Given the description of an element on the screen output the (x, y) to click on. 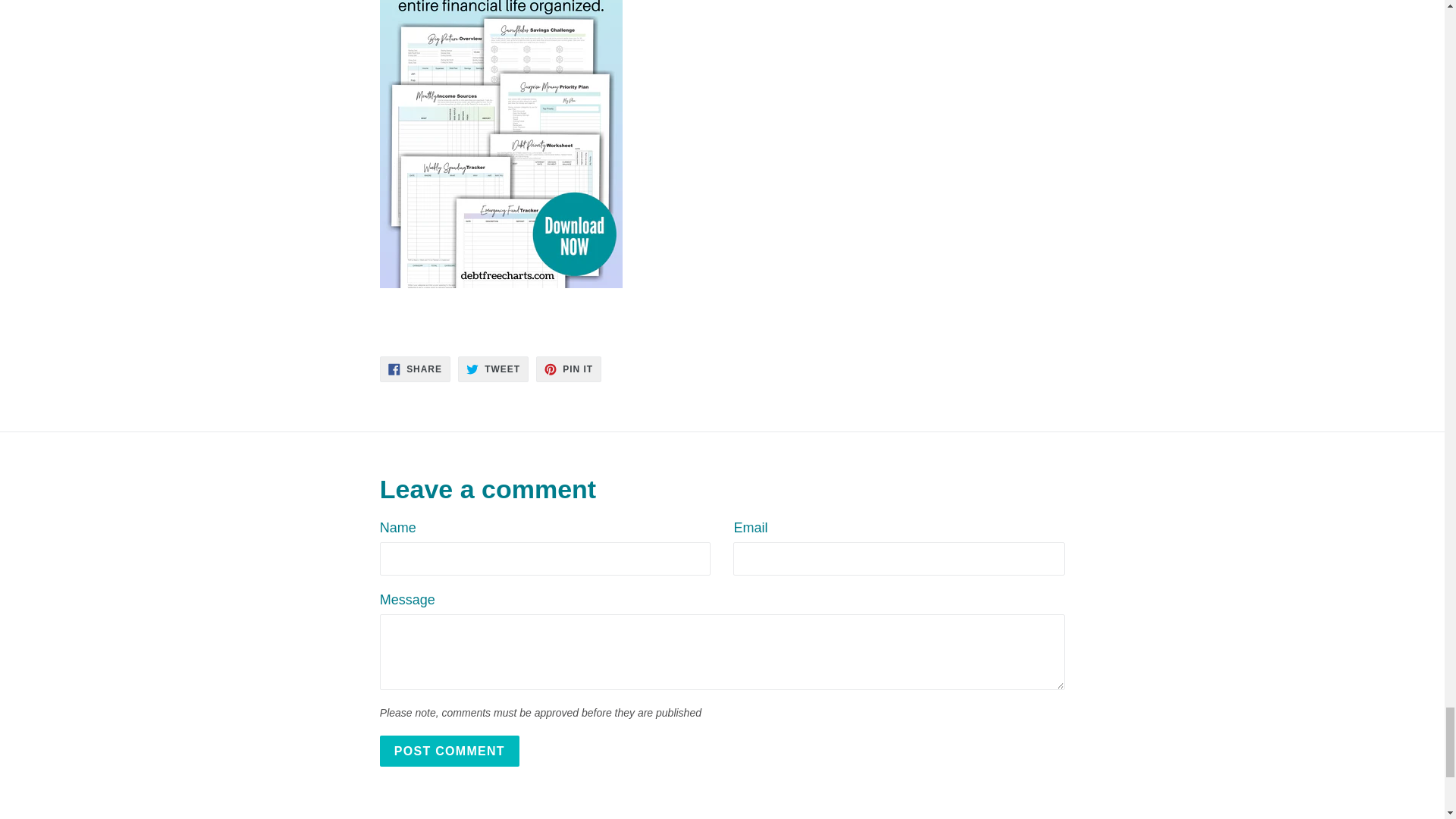
Pin on Pinterest (568, 369)
Post comment (449, 750)
Share on Facebook (414, 369)
Tweet on Twitter (493, 369)
